Given the description of an element on the screen output the (x, y) to click on. 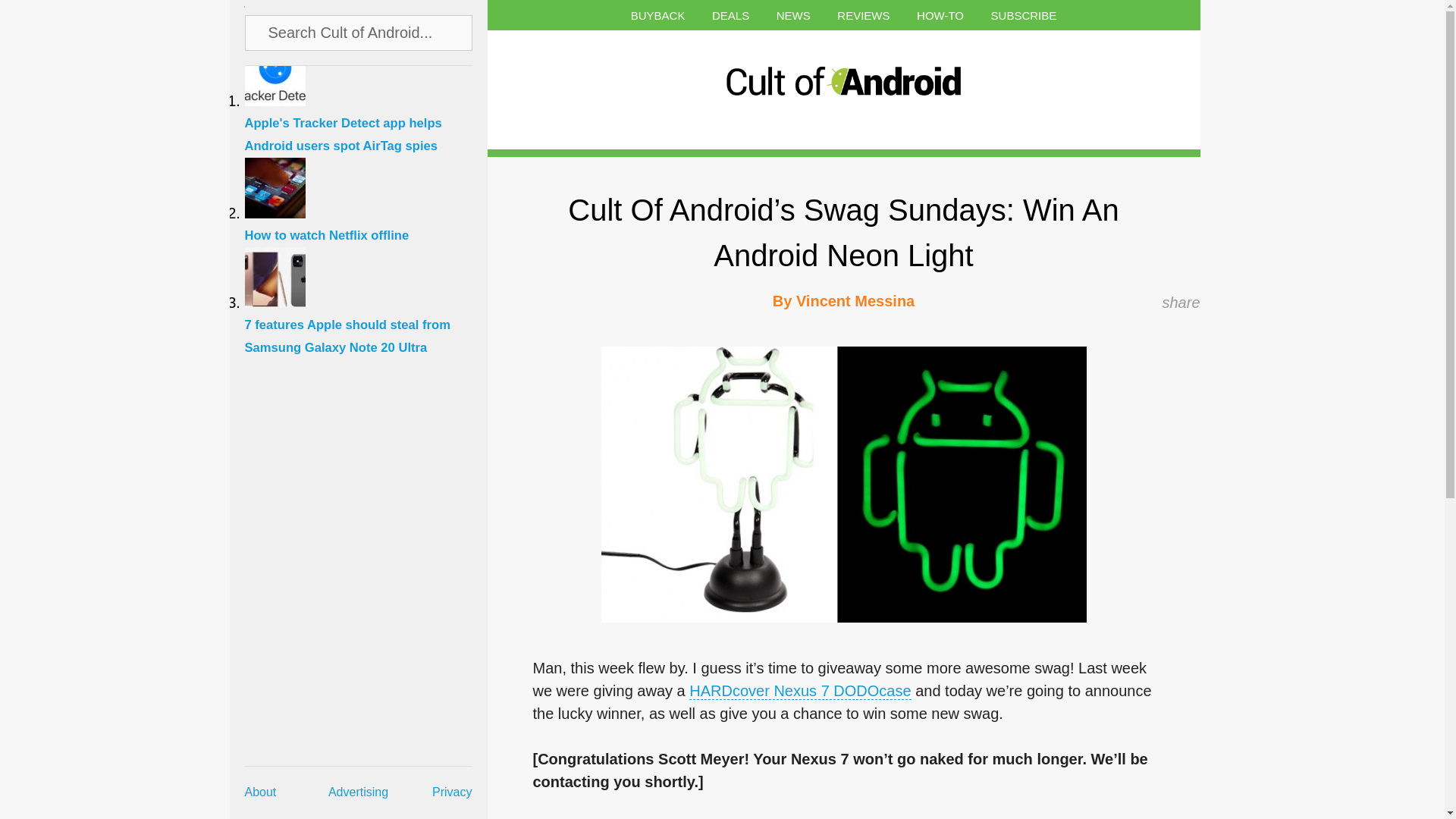
Posts by Vincent Messina (855, 300)
BUYBACK (657, 15)
NEWS (793, 15)
DEALS (730, 15)
Search Cult of Android... (358, 32)
Advertising (358, 791)
How to watch Netflix offline (365, 225)
Vincent Messina (855, 300)
Search Cult of Android... (358, 32)
SUBSCRIBE (1024, 15)
share (1180, 302)
HOW-TO (940, 15)
HARDcover Nexus 7 DODOcase (799, 691)
